Given the description of an element on the screen output the (x, y) to click on. 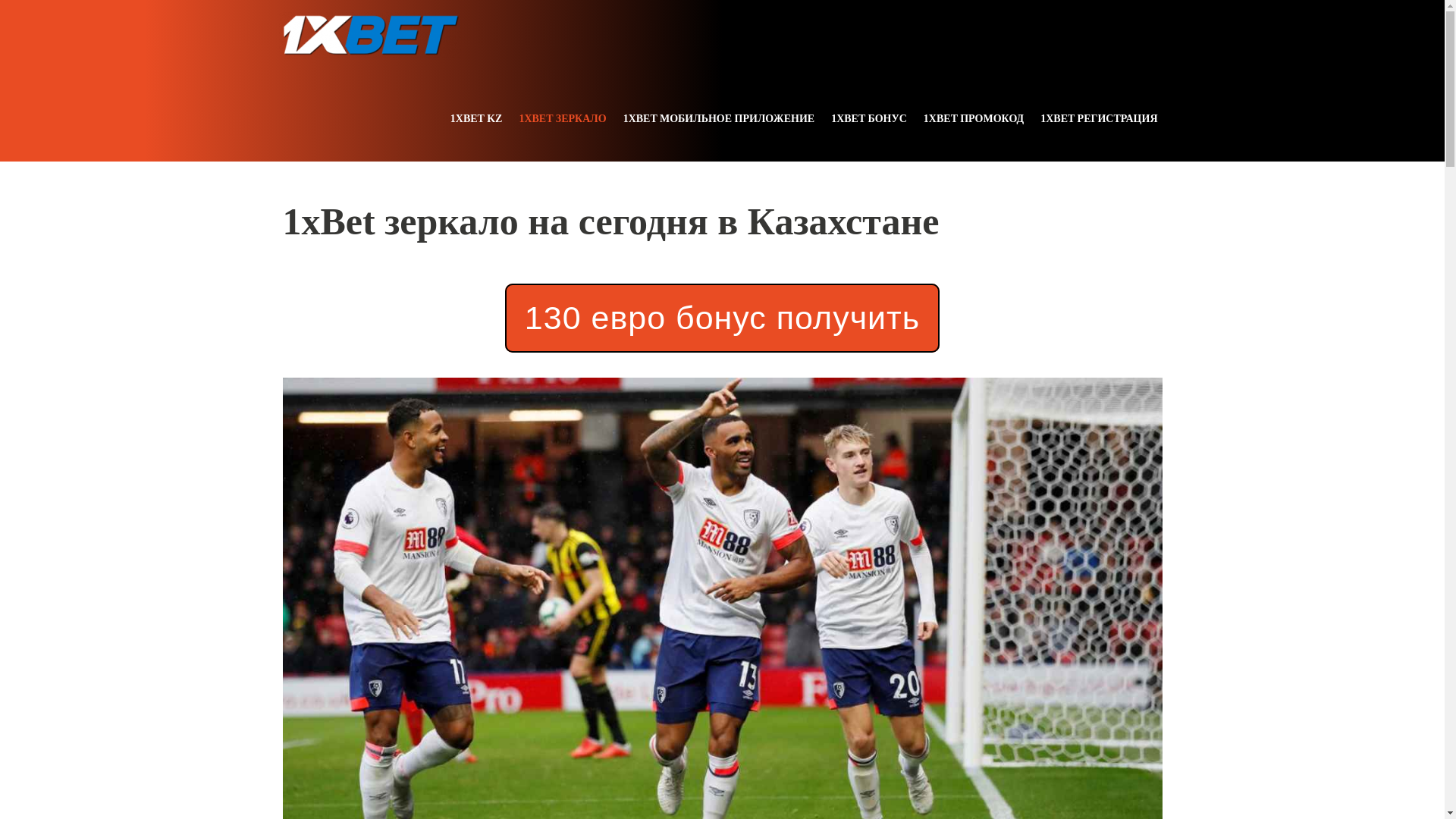
1XBET KZ Element type: text (476, 118)
